Given the description of an element on the screen output the (x, y) to click on. 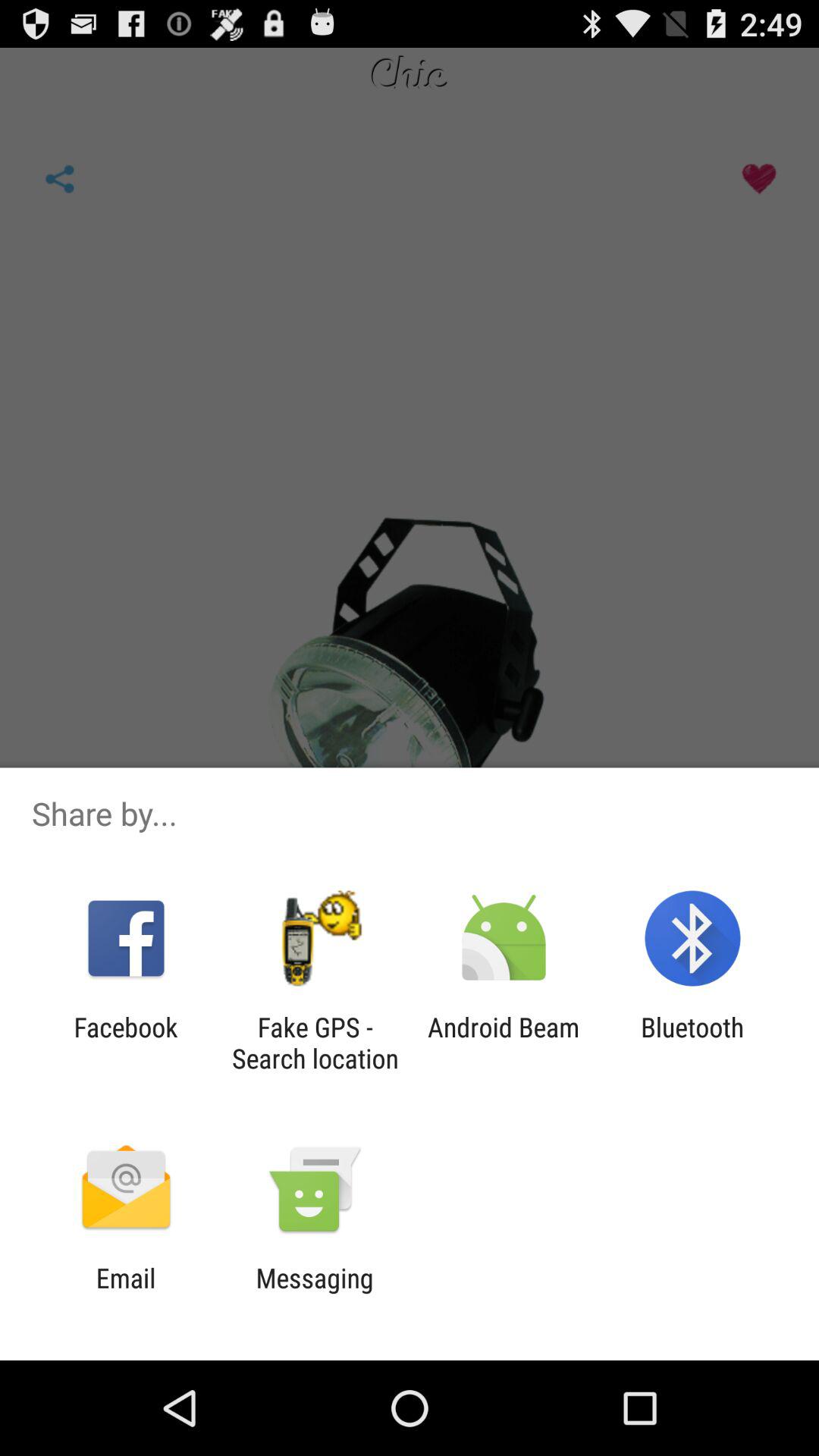
tap the icon next to android beam item (691, 1042)
